Given the description of an element on the screen output the (x, y) to click on. 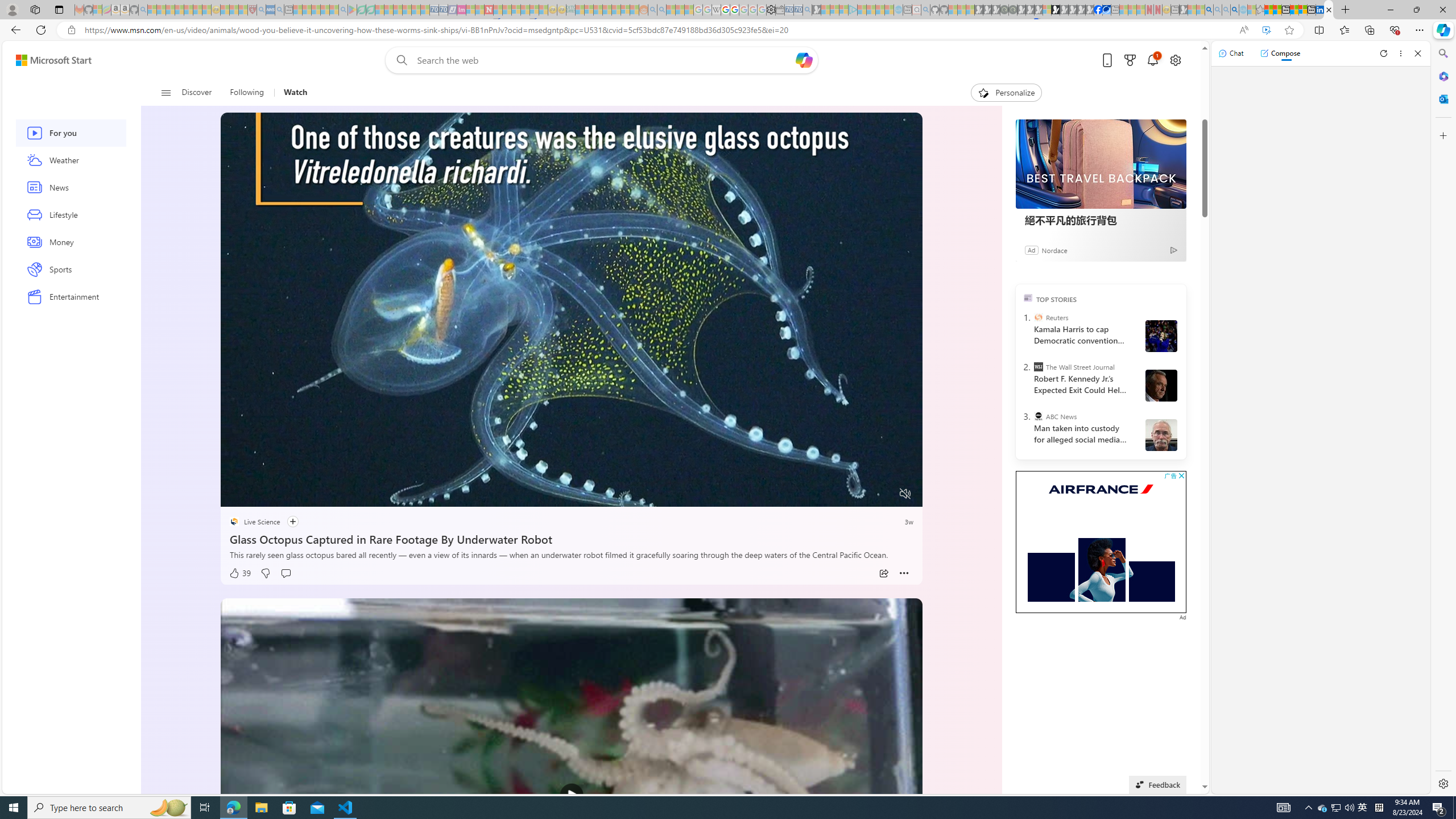
Chat (1230, 52)
10 Like (240, 87)
Watch (290, 92)
Future Focus Report 2024 - Sleeping (1012, 9)
Enter your search term (603, 59)
The Weather Channel - MSN - Sleeping (170, 9)
More (903, 573)
Kinda Frugal - MSN - Sleeping (616, 9)
MSN - Sleeping (1183, 9)
